Given the description of an element on the screen output the (x, y) to click on. 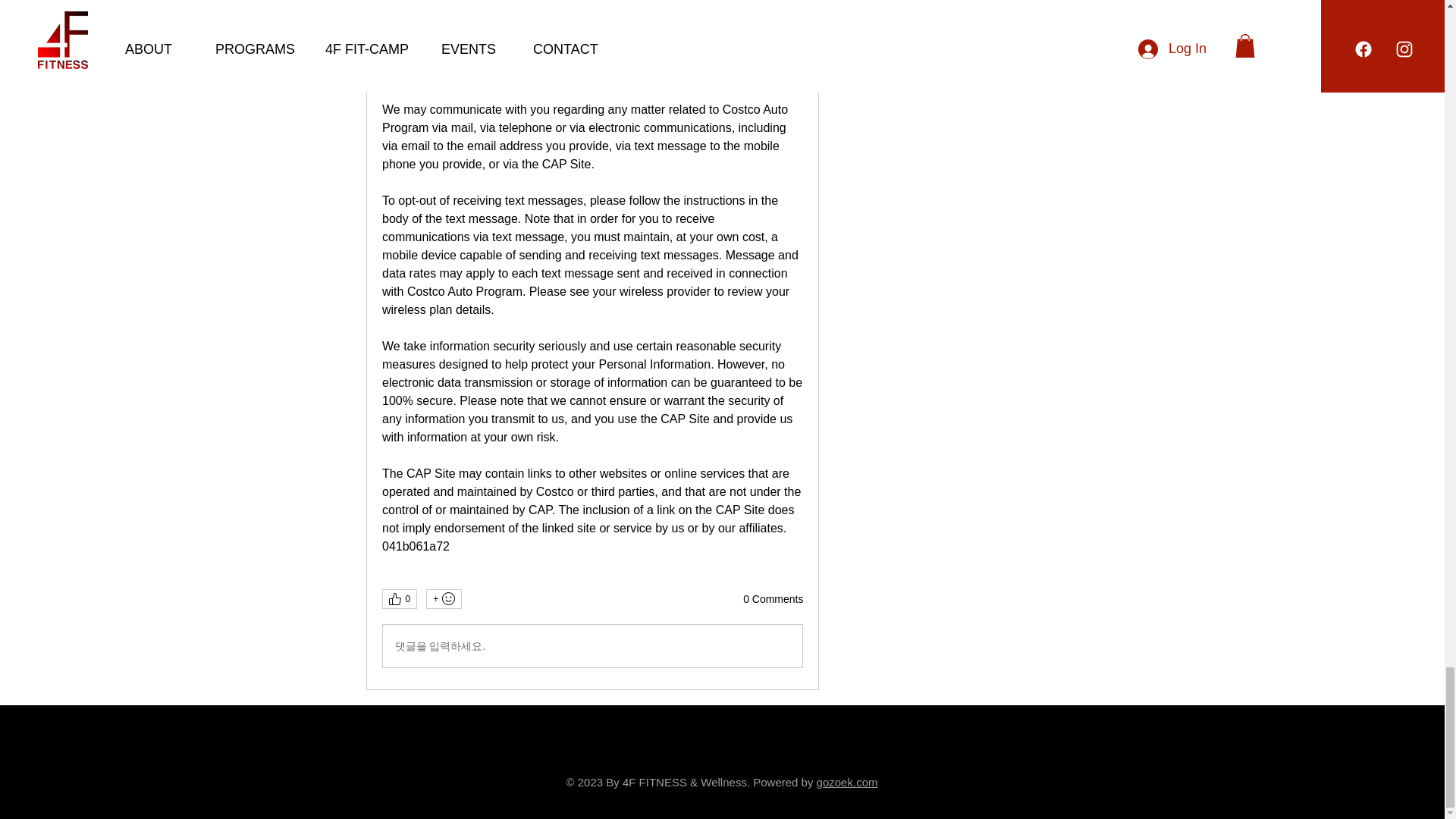
0 Comments (772, 599)
